Given the description of an element on the screen output the (x, y) to click on. 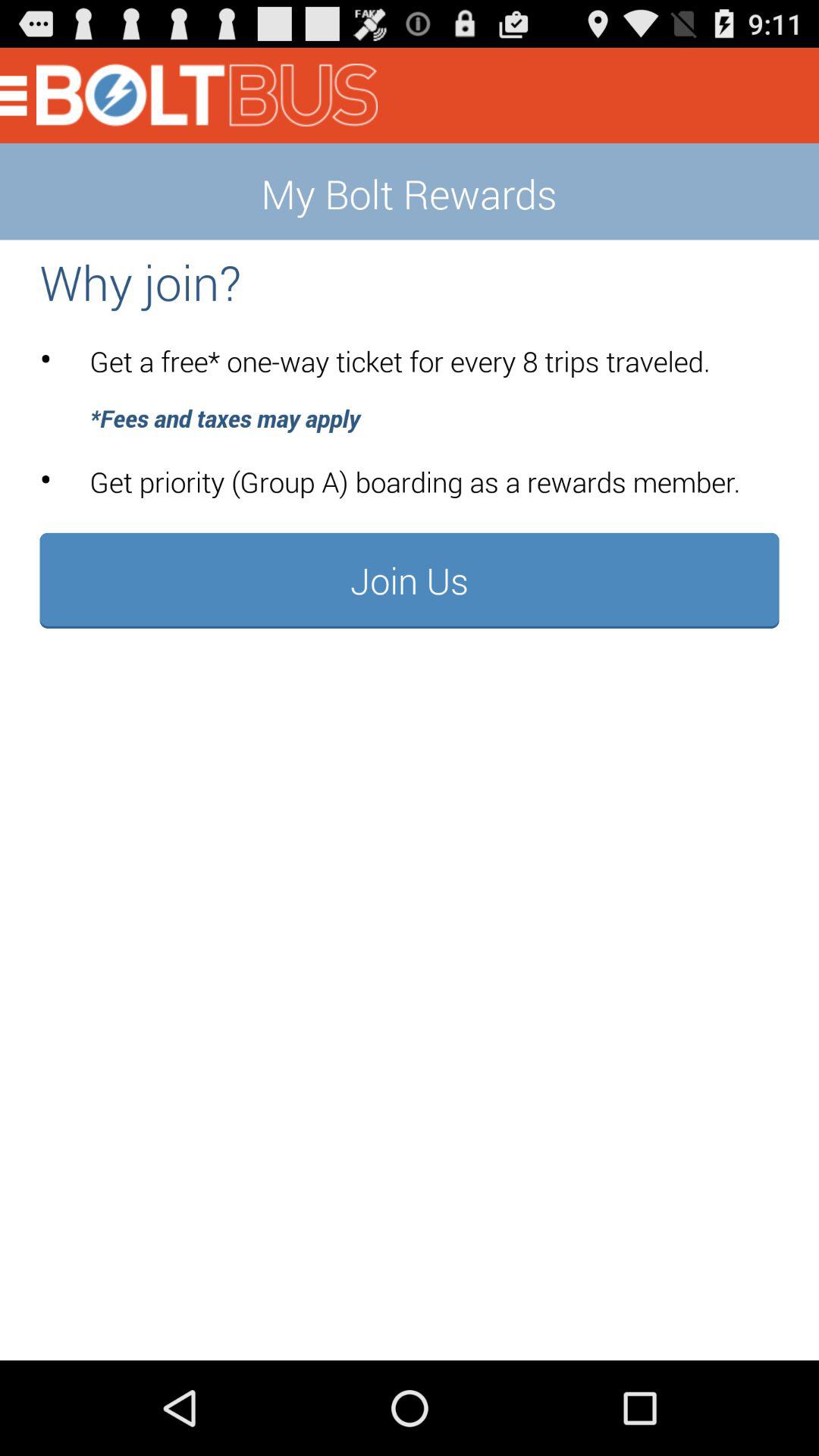
click join us (409, 580)
